Given the description of an element on the screen output the (x, y) to click on. 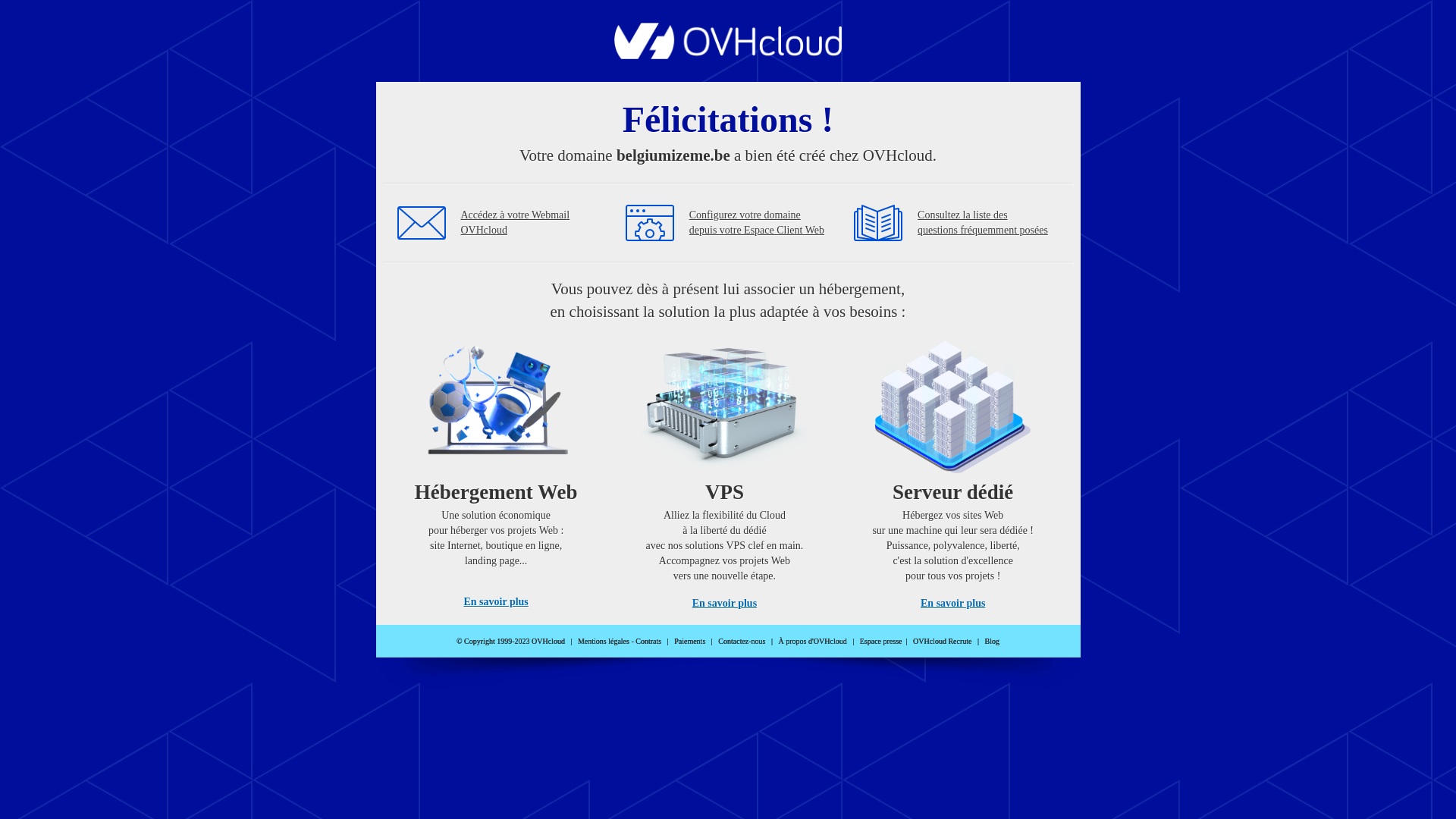
Espace presse Element type: text (880, 641)
VPS Element type: hover (724, 469)
Blog Element type: text (992, 641)
OVHcloud Recrute Element type: text (942, 641)
En savoir plus Element type: text (952, 602)
Contactez-nous Element type: text (741, 641)
En savoir plus Element type: text (724, 602)
Paiements Element type: text (689, 641)
OVHcloud Element type: hover (727, 54)
Configurez votre domaine
depuis votre Espace Client Web Element type: text (756, 222)
En savoir plus Element type: text (495, 601)
